Given the description of an element on the screen output the (x, y) to click on. 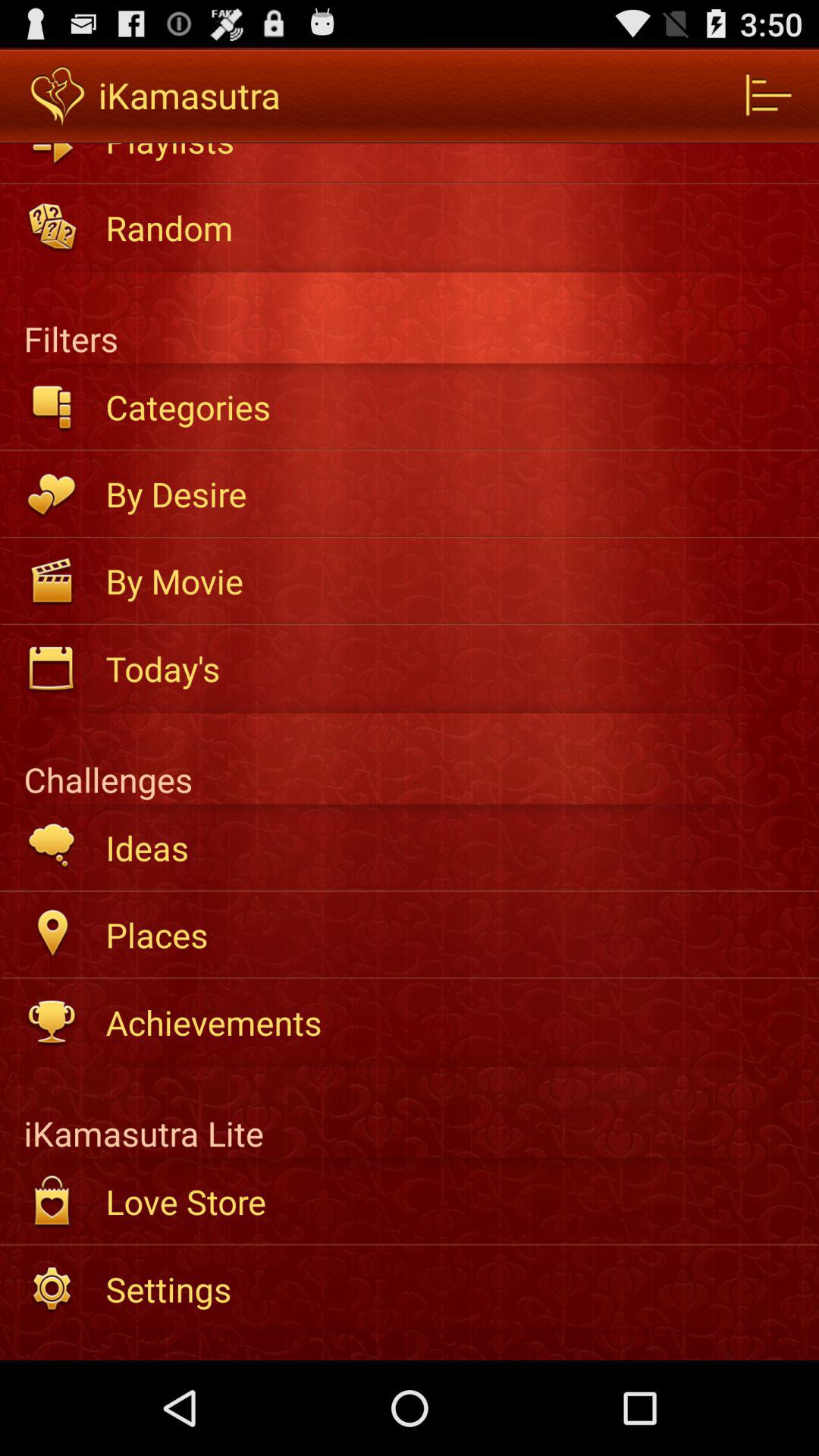
turn off the random app (452, 227)
